Given the description of an element on the screen output the (x, y) to click on. 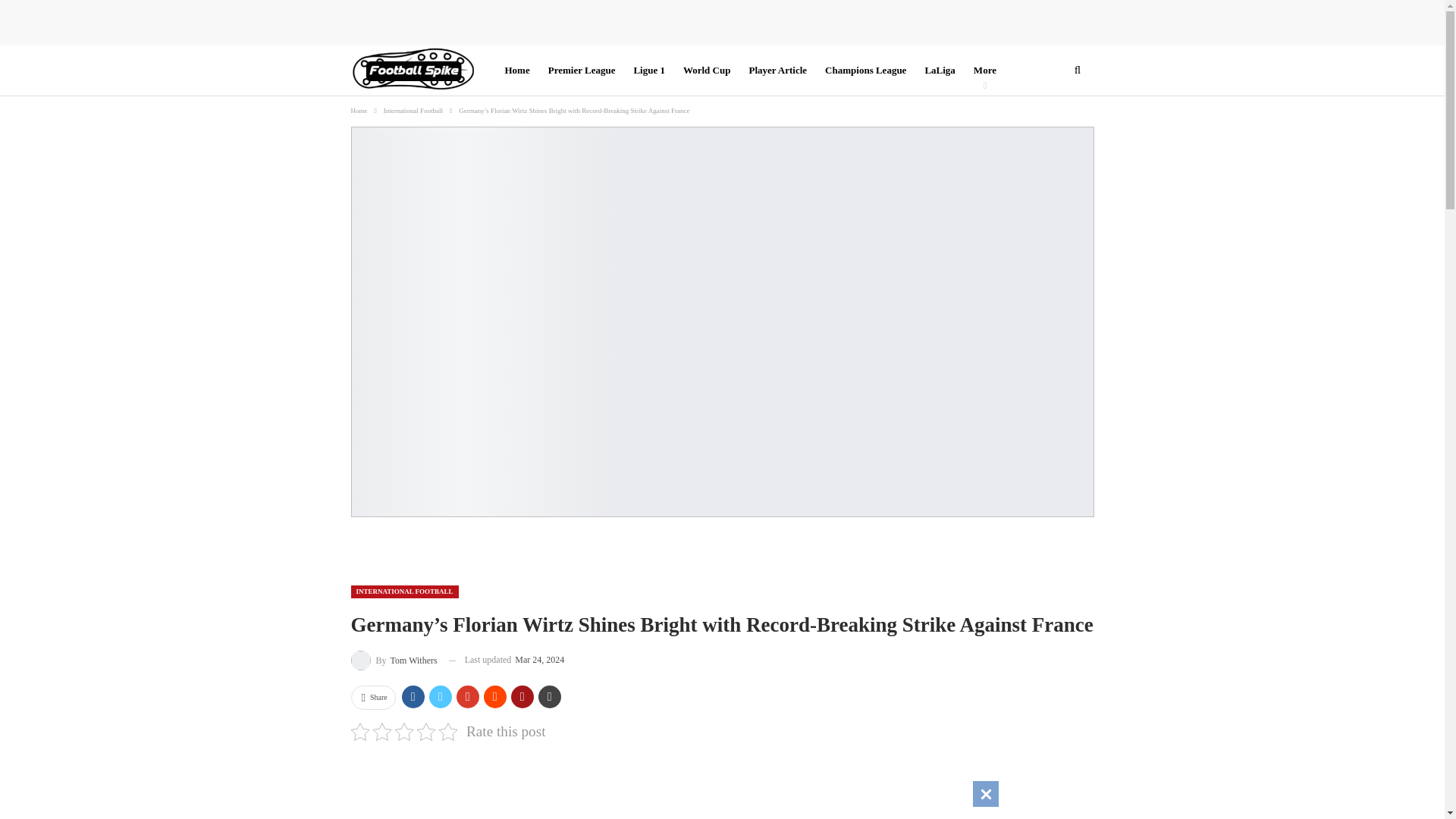
Advertisement (721, 787)
Champions League (865, 70)
Home (358, 110)
Premier League (582, 70)
Player Article (777, 70)
World Cup (707, 70)
INTERNATIONAL FOOTBALL (404, 591)
By Tom Withers (393, 660)
International Football (413, 110)
Browse Author Articles (393, 660)
